Given the description of an element on the screen output the (x, y) to click on. 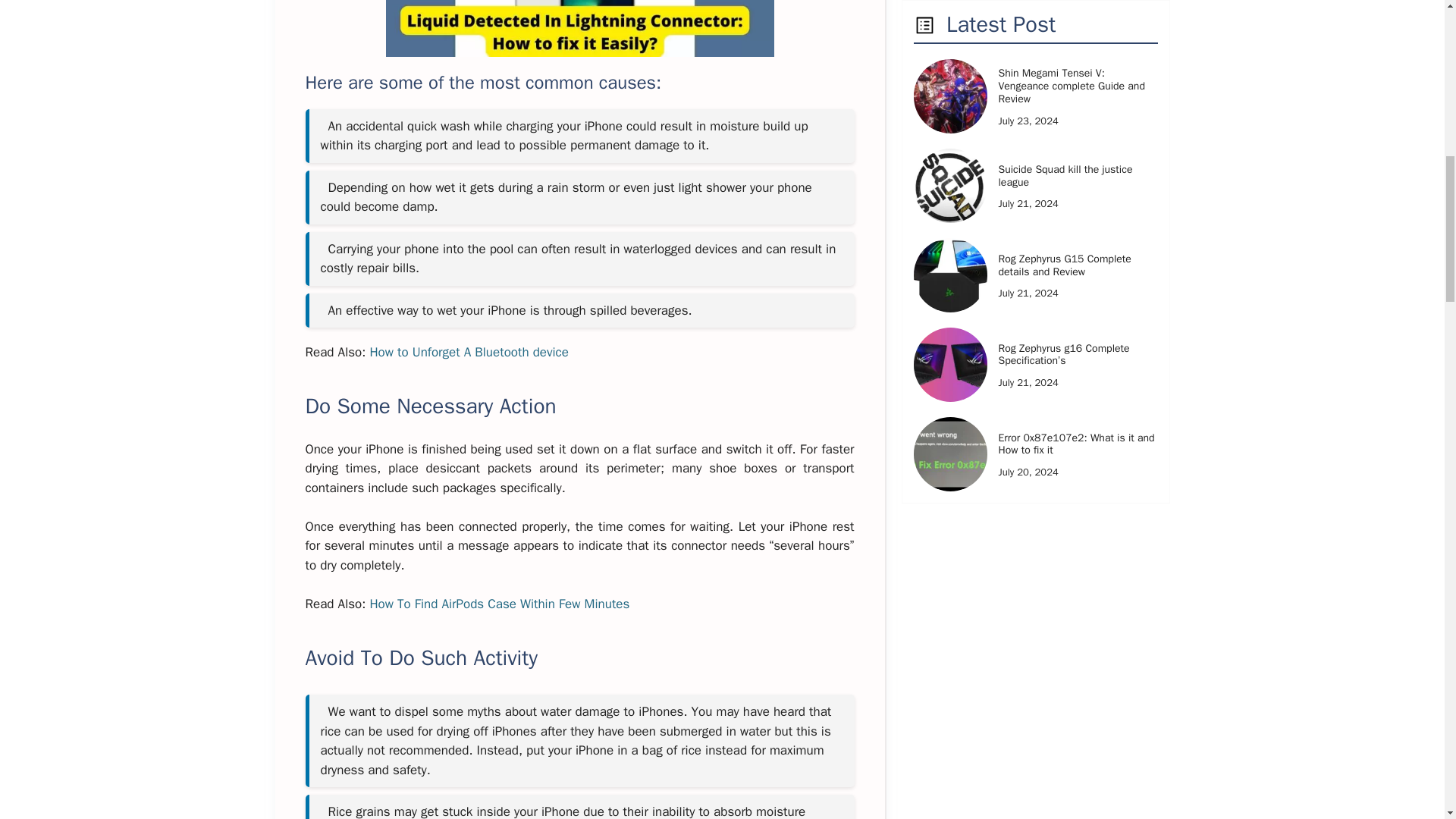
How to Unforget A Bluetooth device (468, 351)
How To Find AirPods Case Within Few Minutes (498, 603)
